Given the description of an element on the screen output the (x, y) to click on. 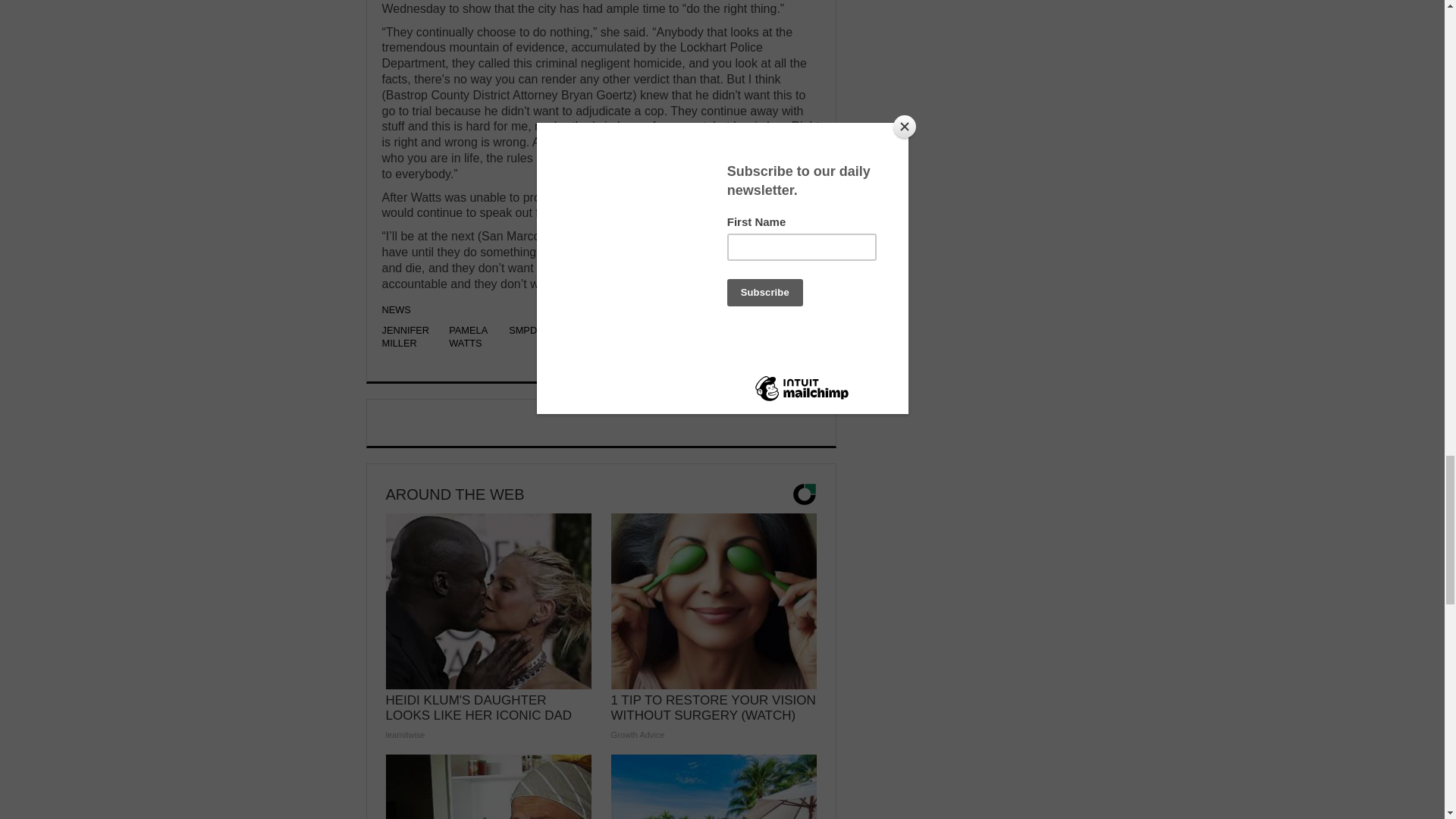
PAMELA WATTS (467, 336)
JENNIFER MILLER (405, 336)
SMPD (522, 329)
NEWS (395, 309)
